Given the description of an element on the screen output the (x, y) to click on. 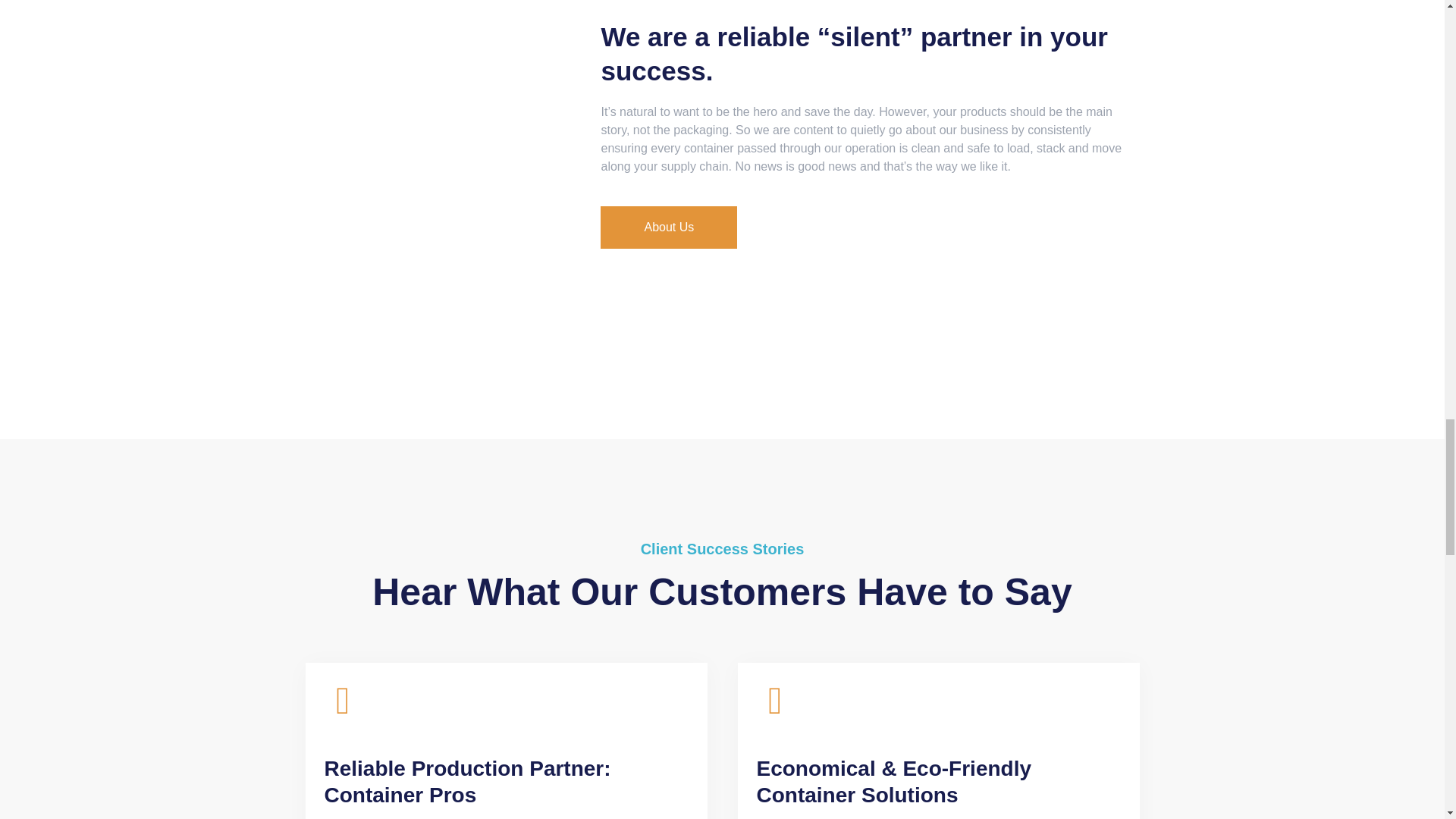
About Us (667, 227)
